Given the description of an element on the screen output the (x, y) to click on. 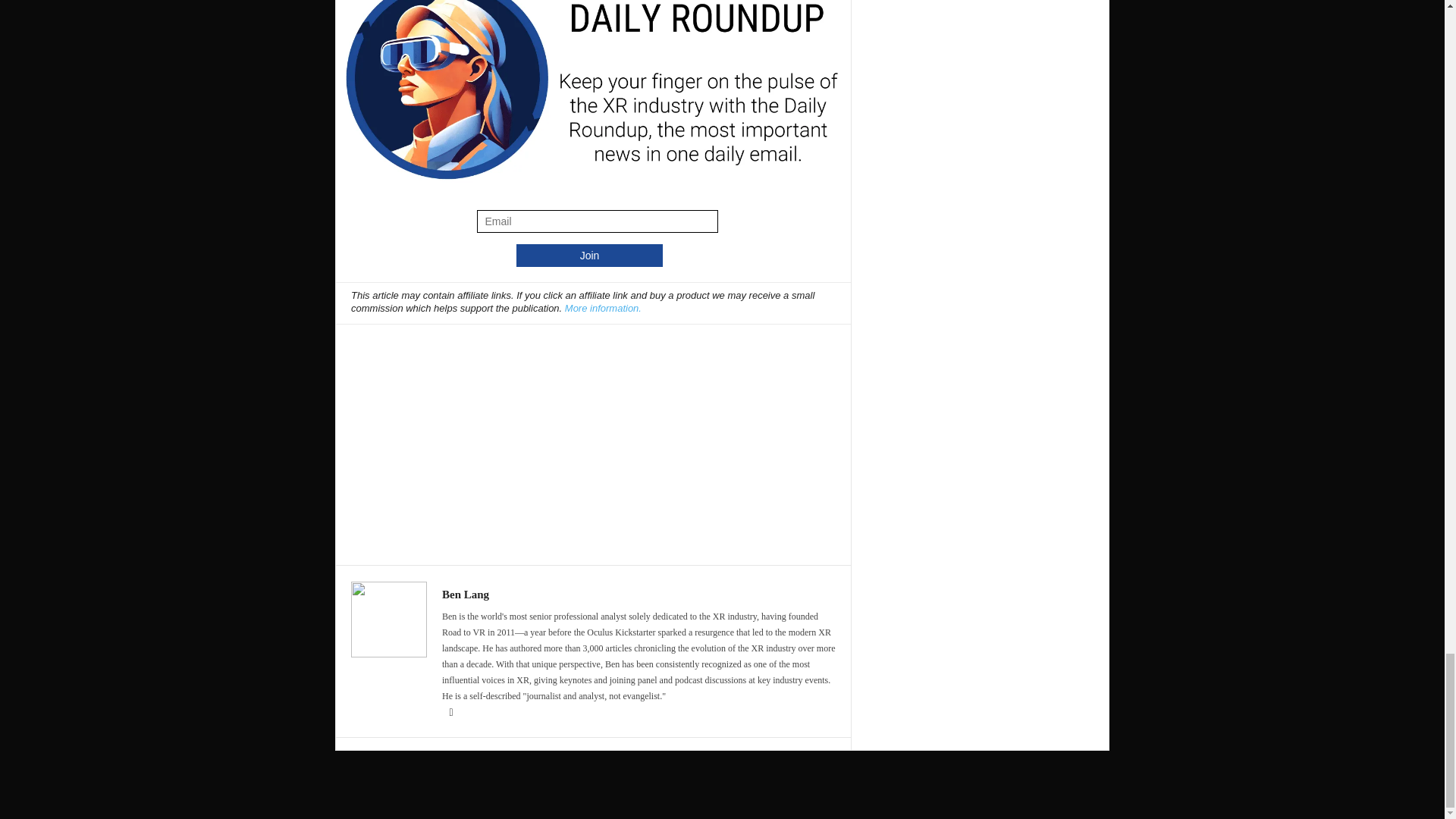
Join (589, 255)
3rd party ad content (593, 436)
